Given the description of an element on the screen output the (x, y) to click on. 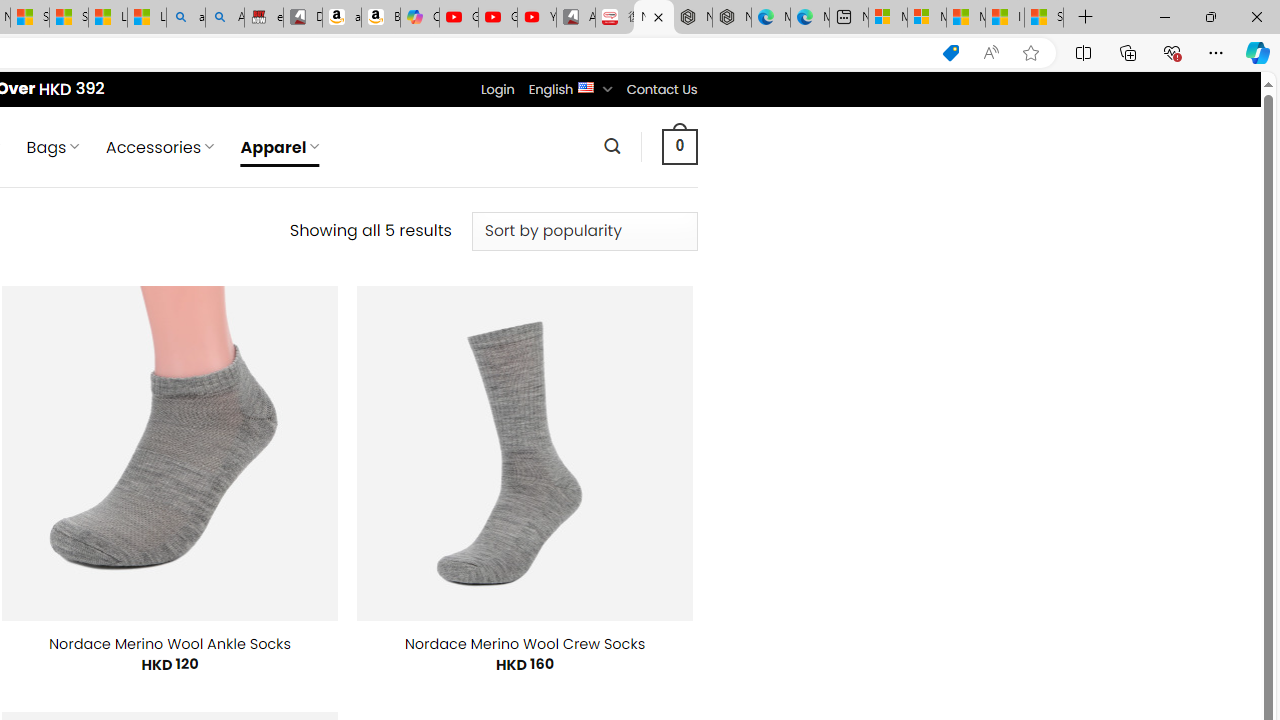
Nordace Merino Wool Ankle Socks (169, 643)
Shop order (584, 231)
Nordace - Apparel (653, 17)
